Given the description of an element on the screen output the (x, y) to click on. 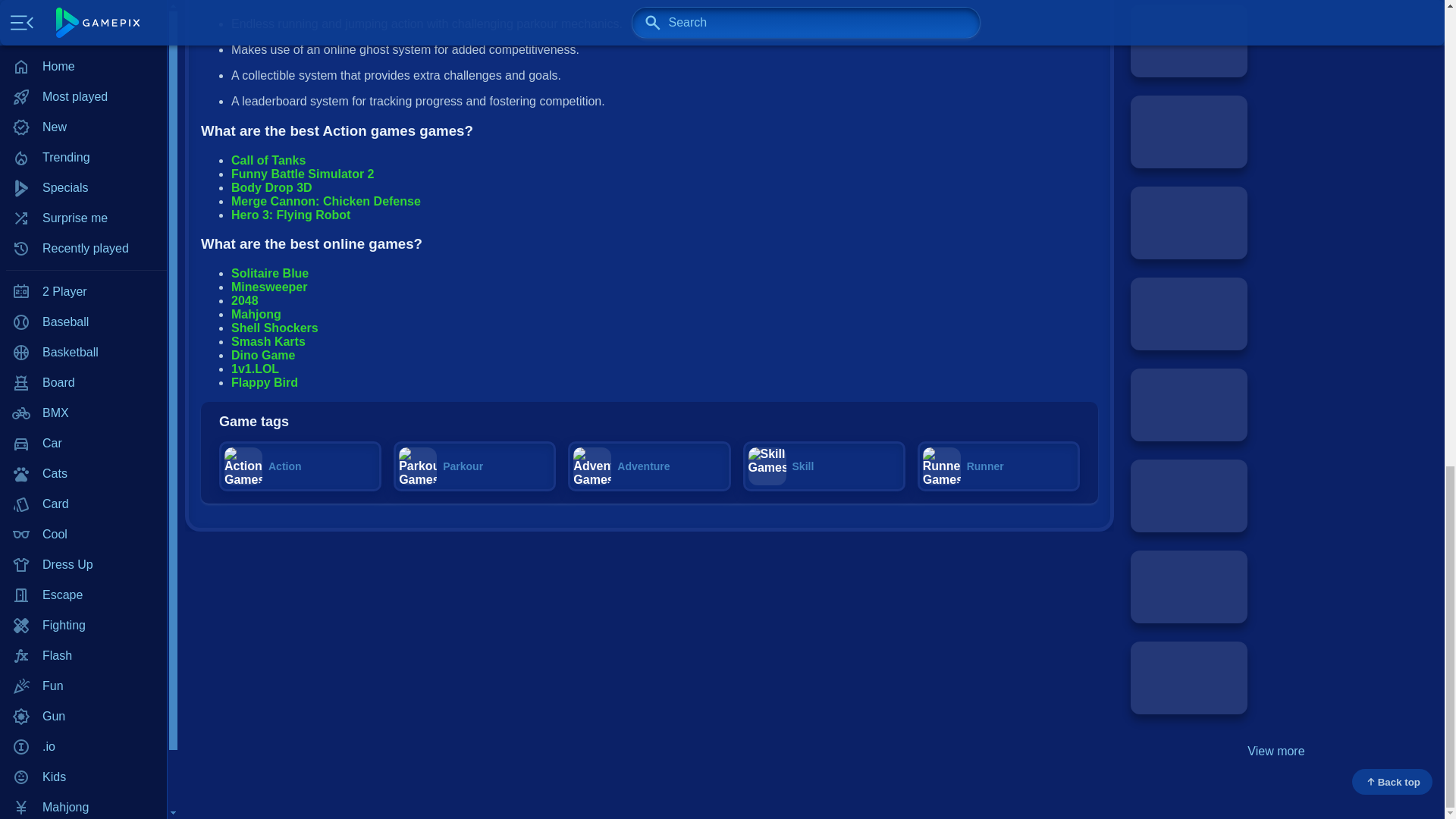
War (83, 49)
Word (83, 79)
Zombie (83, 110)
Snake (83, 2)
Soccer (83, 19)
